Given the description of an element on the screen output the (x, y) to click on. 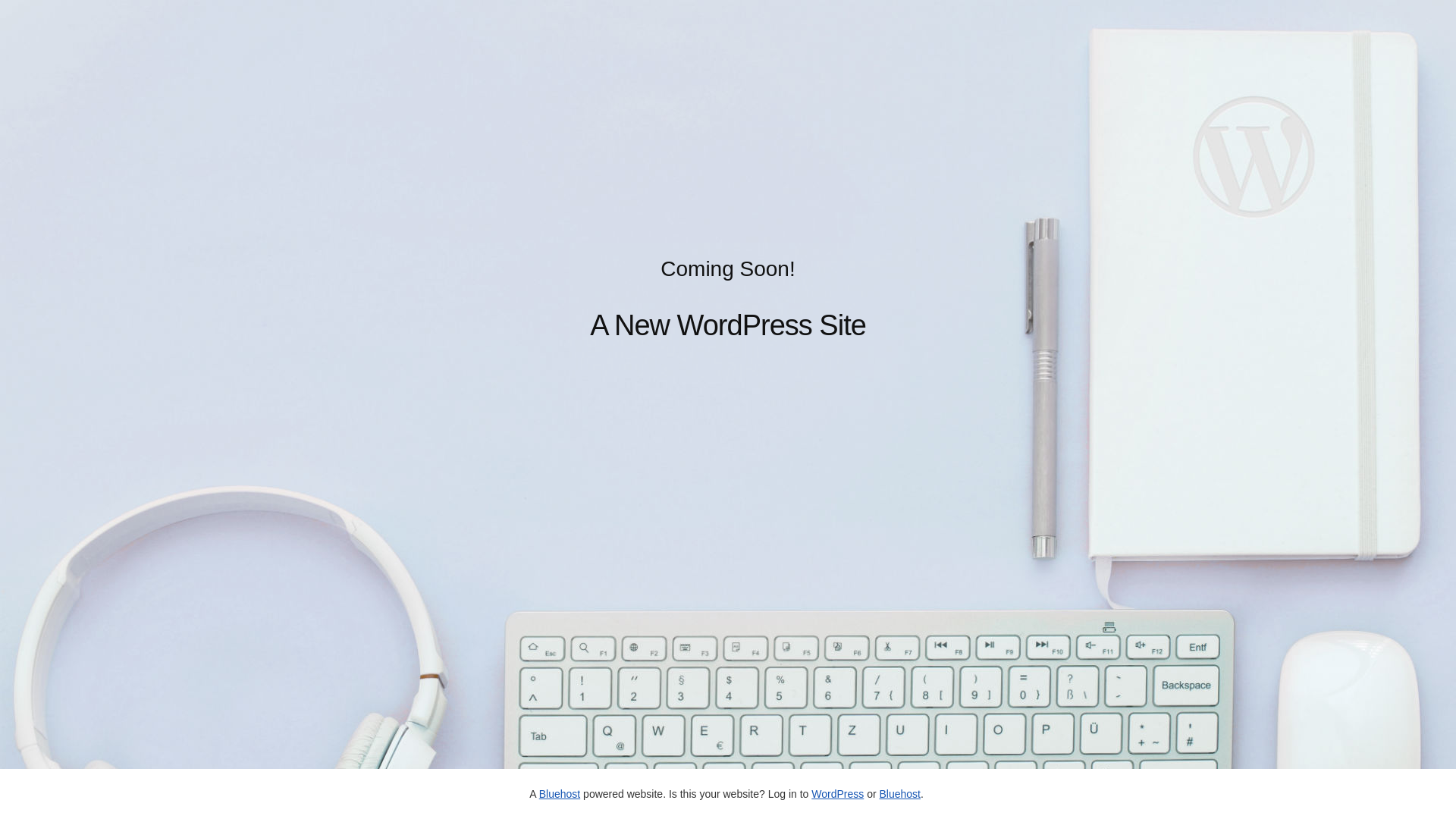
Bluehost Element type: text (559, 793)
Bluehost Element type: text (898, 793)
WordPress Element type: text (837, 793)
